Given the description of an element on the screen output the (x, y) to click on. 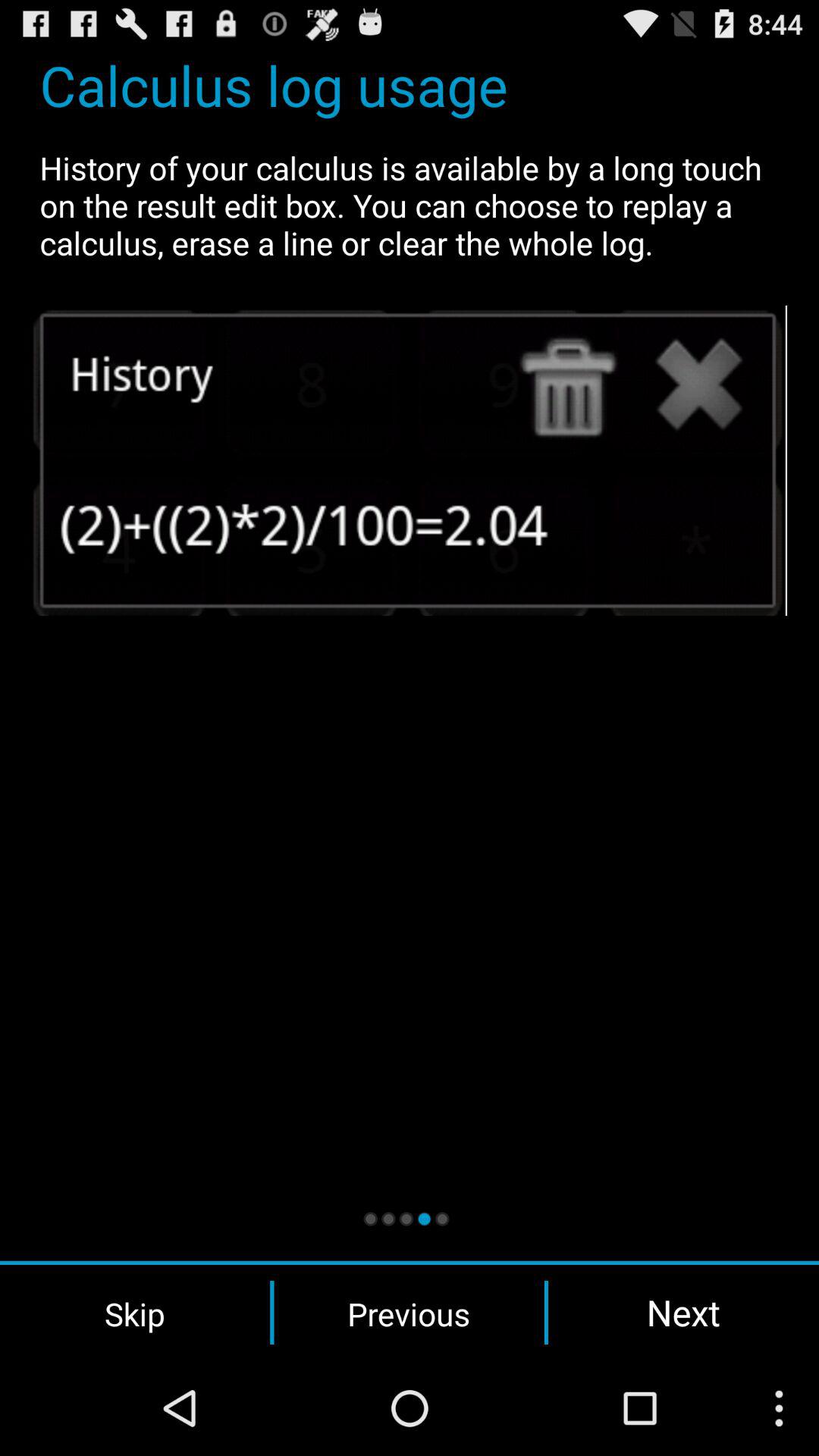
jump until next icon (683, 1312)
